Given the description of an element on the screen output the (x, y) to click on. 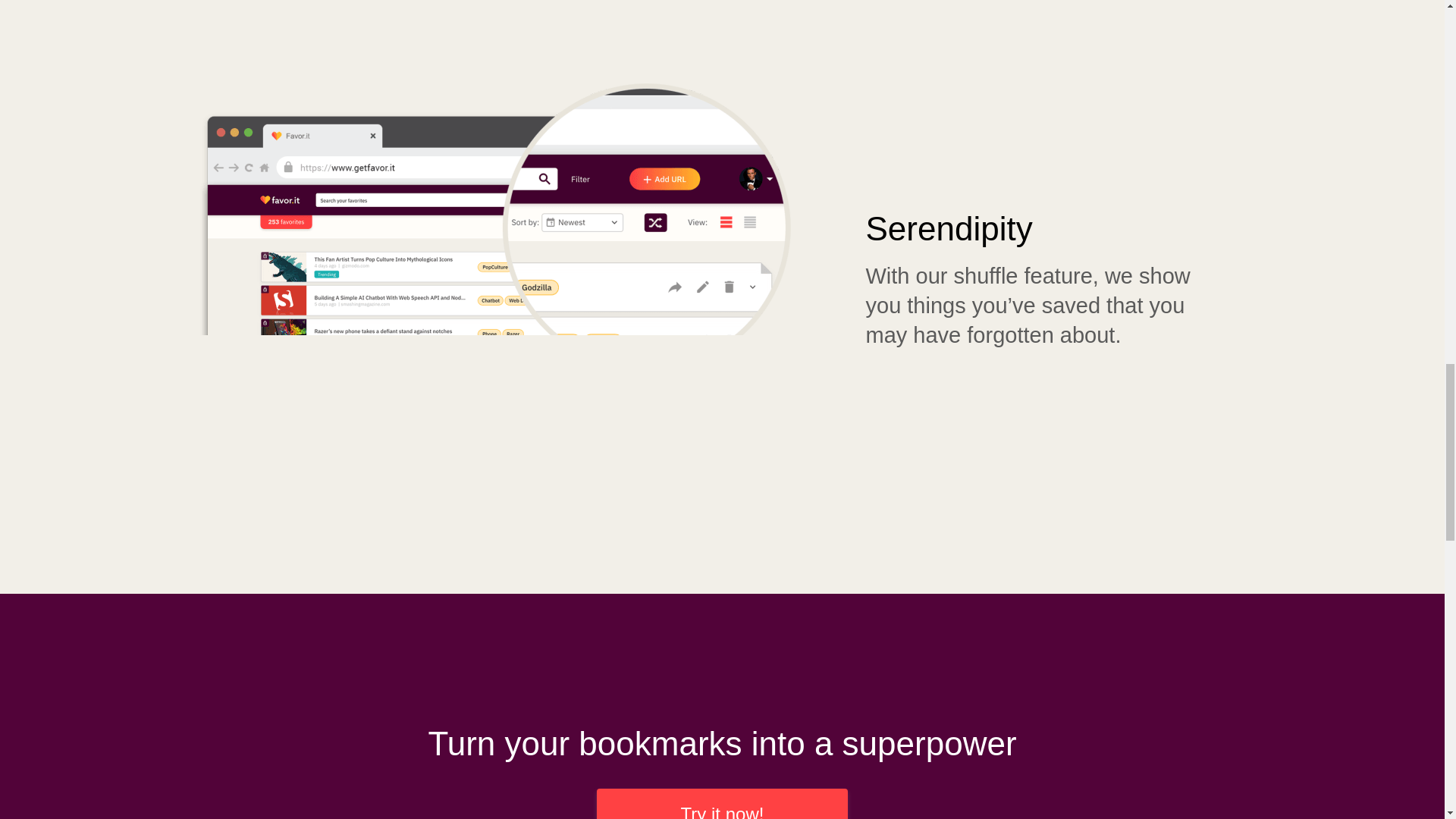
Try it now! (721, 803)
